Given the description of an element on the screen output the (x, y) to click on. 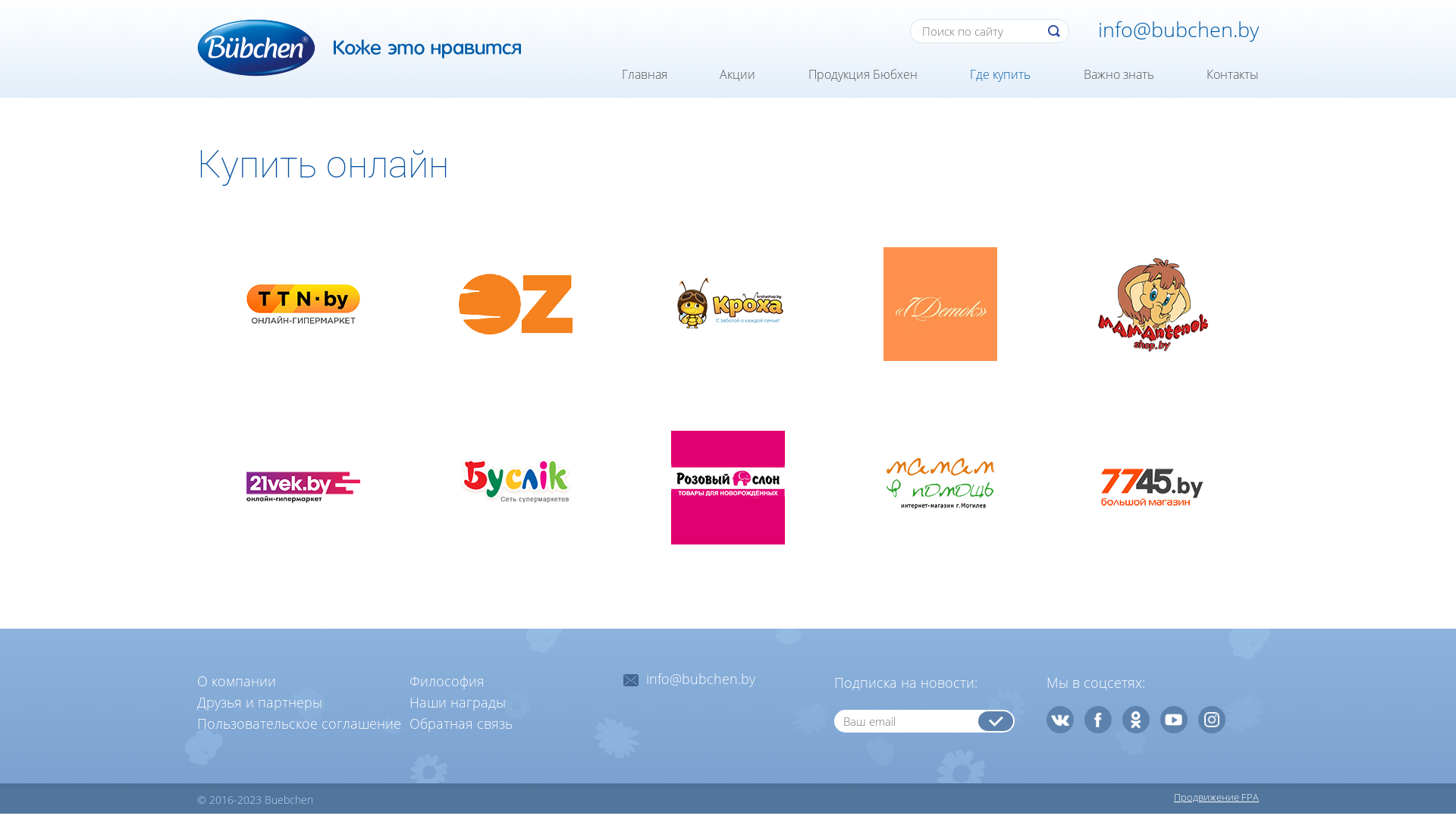
info@bubchen.by Element type: text (1178, 29)
info@bubchen.by Element type: text (700, 678)
